Given the description of an element on the screen output the (x, y) to click on. 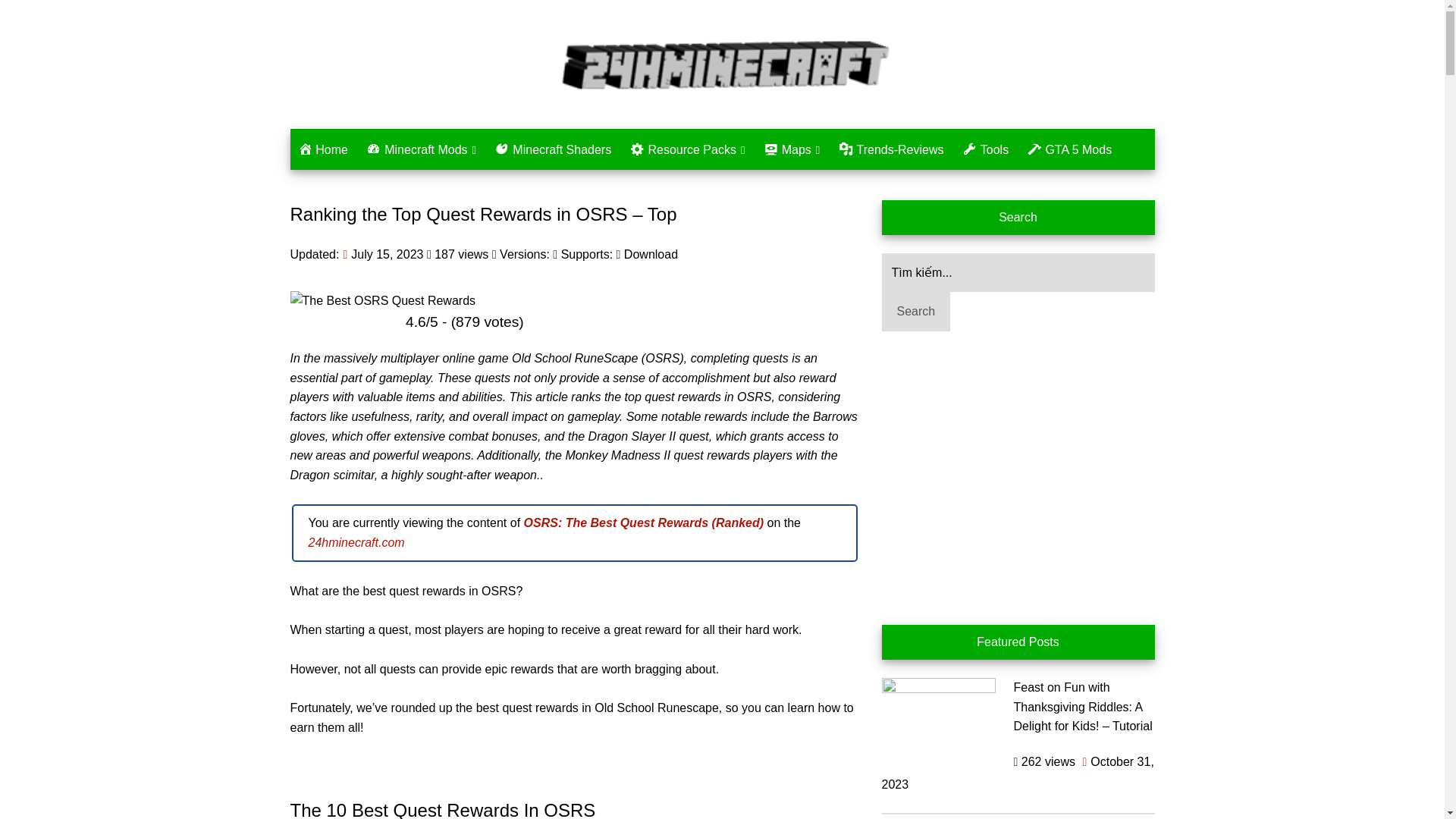
Search (915, 311)
Tools (985, 149)
24hminecraft.com (355, 542)
Resource Packs (687, 149)
GTA 5 Mods (1069, 149)
Trends-Reviews (891, 149)
Minecraft Mods (420, 149)
Search (915, 311)
Home (322, 149)
Minecraft Shaders (553, 149)
